Given the description of an element on the screen output the (x, y) to click on. 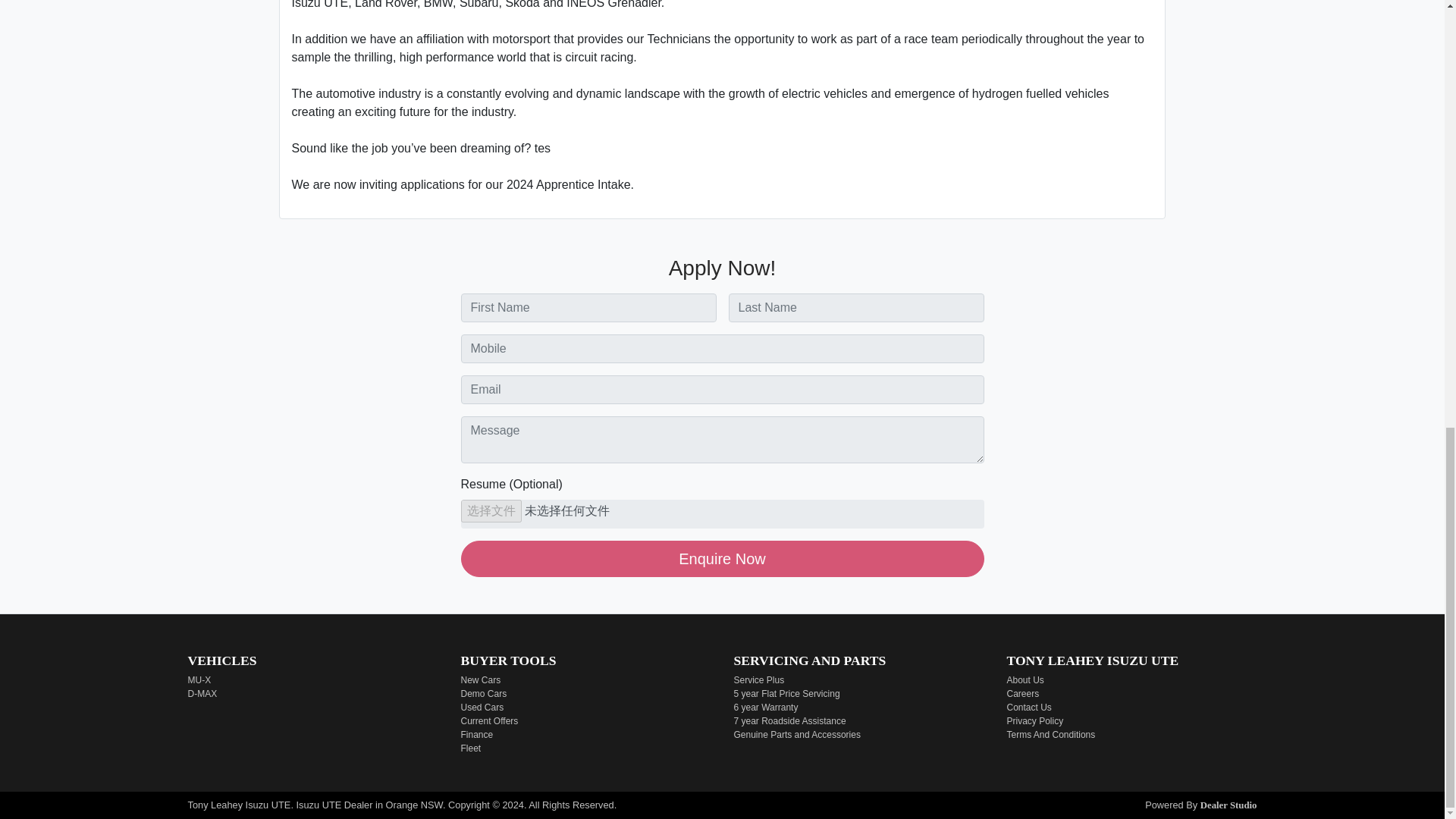
Fleet (471, 747)
Careers (1023, 693)
MU-X (199, 679)
Finance (477, 734)
About Us (1025, 679)
7 year Roadside Assistance (789, 720)
Enquire Now (722, 558)
Demo Cars (483, 693)
New Cars (480, 679)
Dealer Studio (1228, 805)
